Given the description of an element on the screen output the (x, y) to click on. 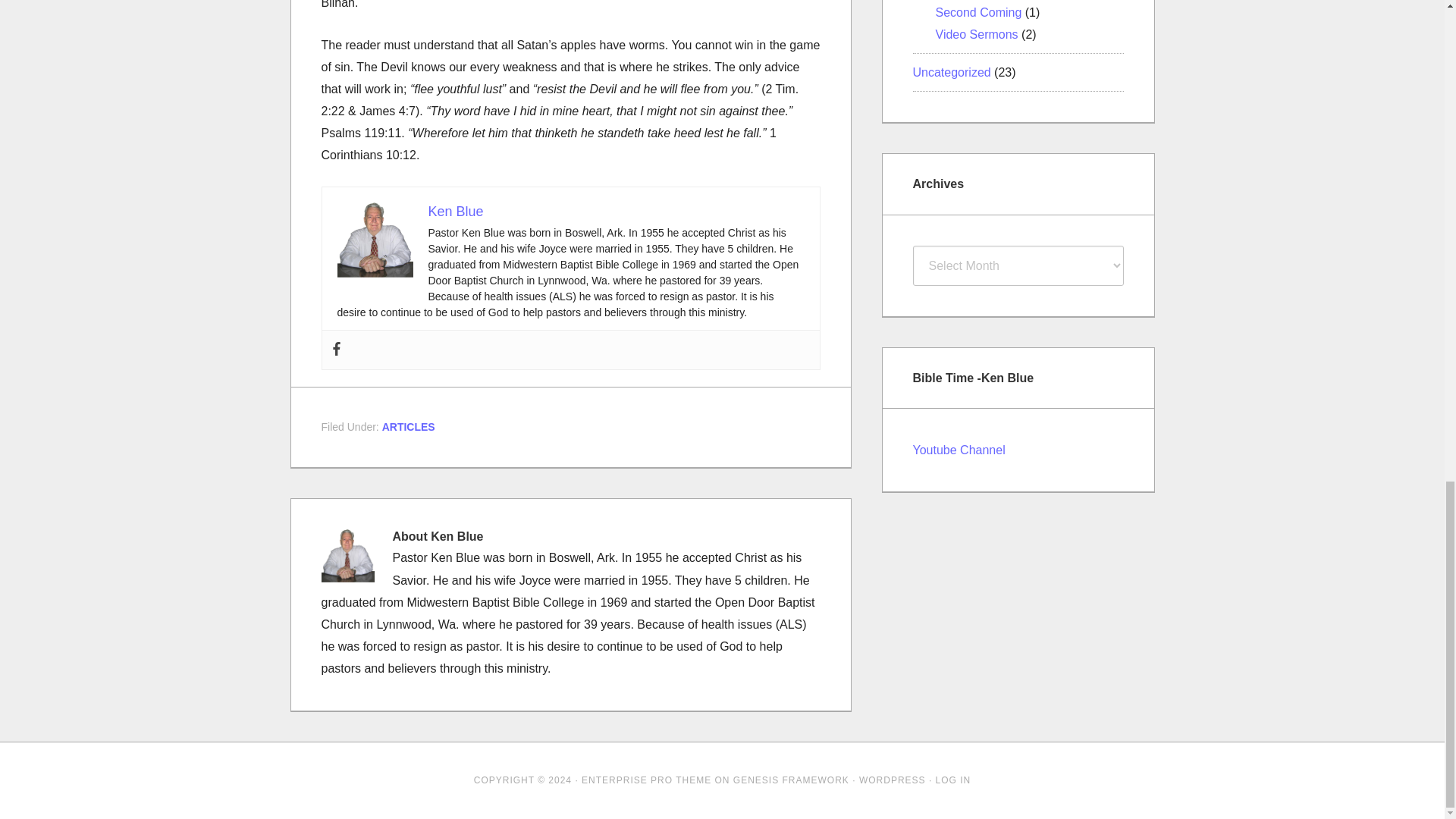
Ken Blue (455, 211)
ARTICLES (408, 426)
Uncategorized (951, 72)
Video Sermons (976, 33)
Second Coming (979, 11)
